Given the description of an element on the screen output the (x, y) to click on. 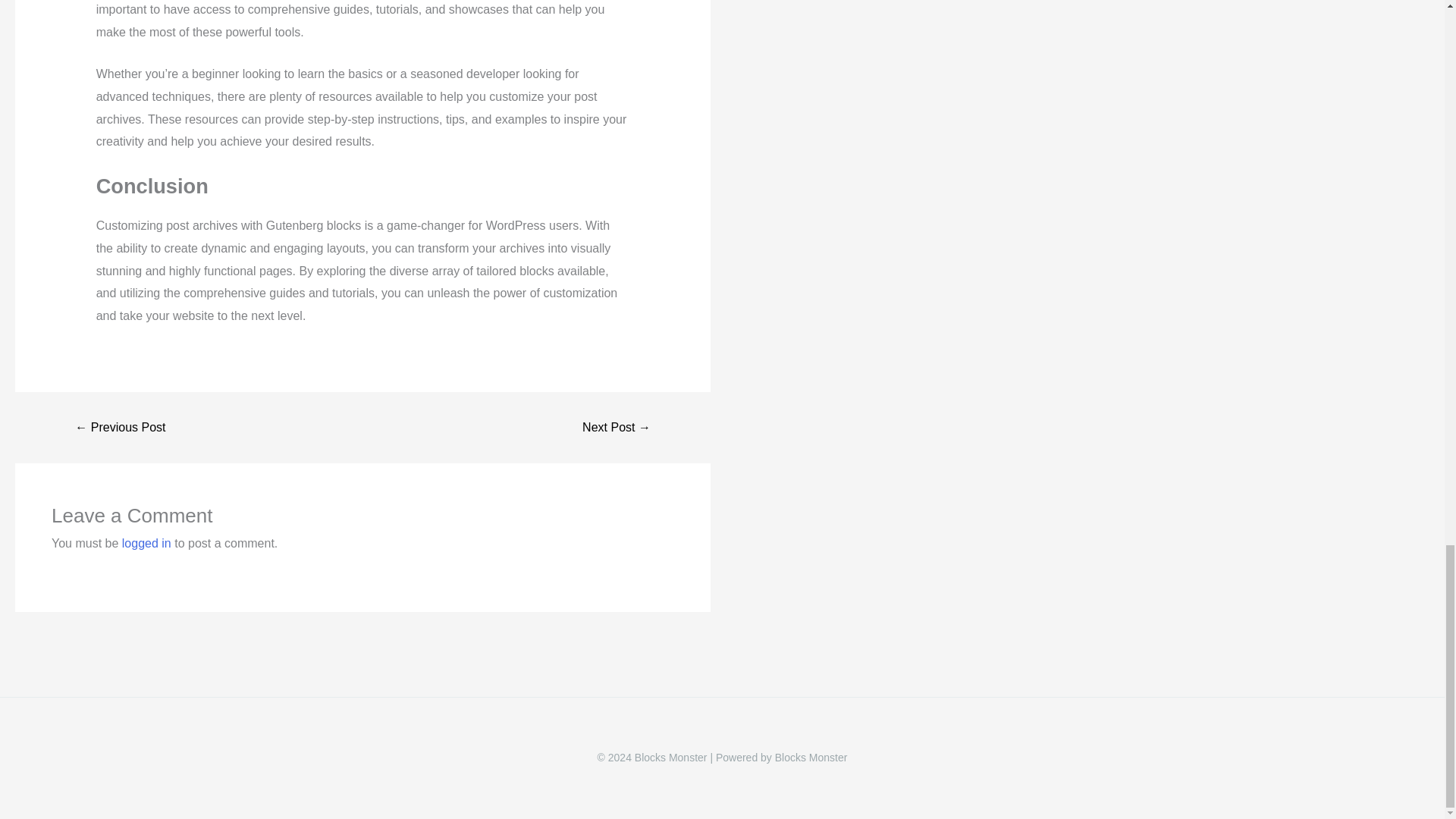
Designing Membership Sites with Elementor Blocks (119, 427)
logged in (146, 543)
Exploring SEO-Friendly Blocks for WordPress (616, 427)
